Given the description of an element on the screen output the (x, y) to click on. 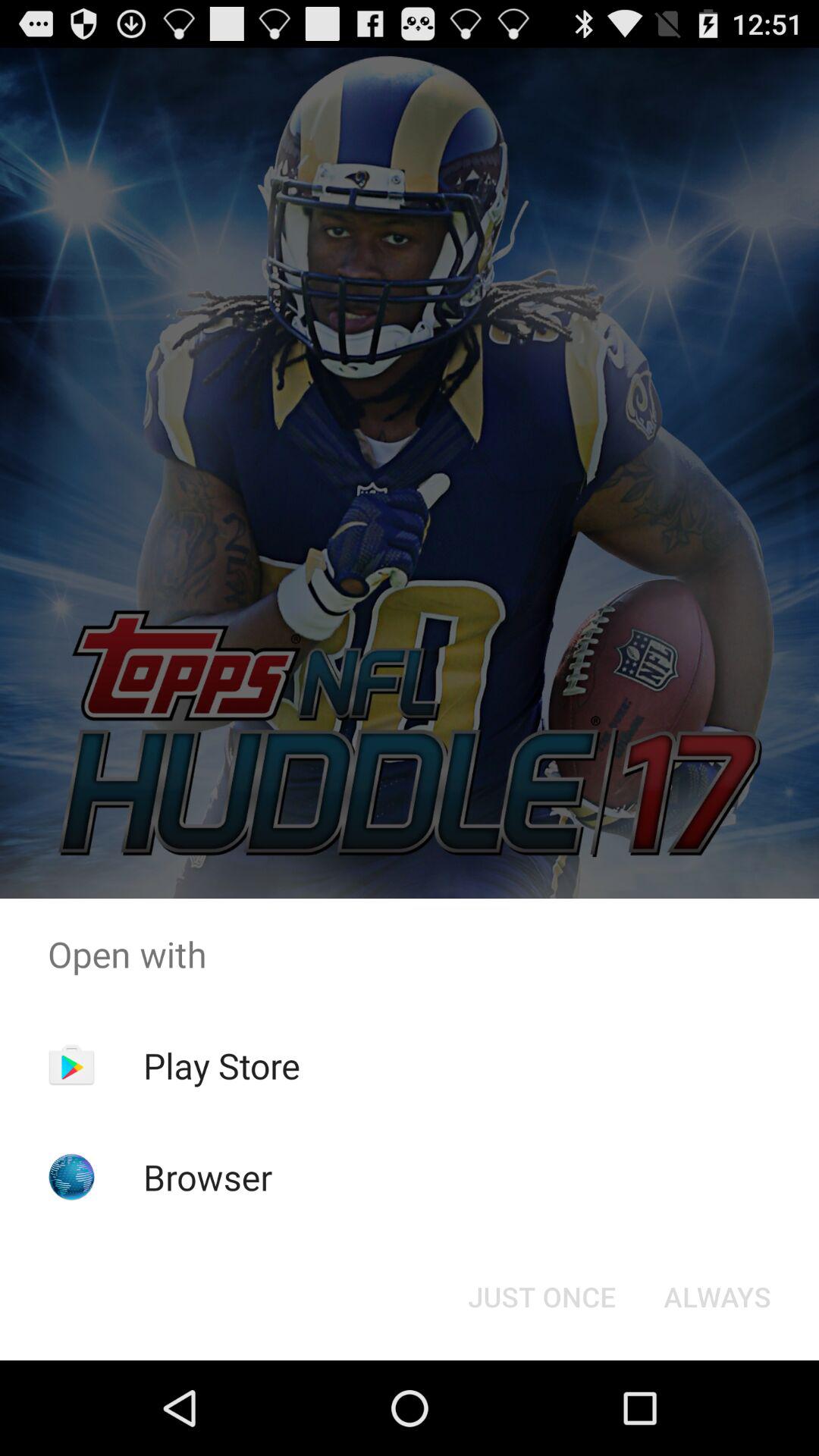
click the item below play store app (207, 1176)
